Given the description of an element on the screen output the (x, y) to click on. 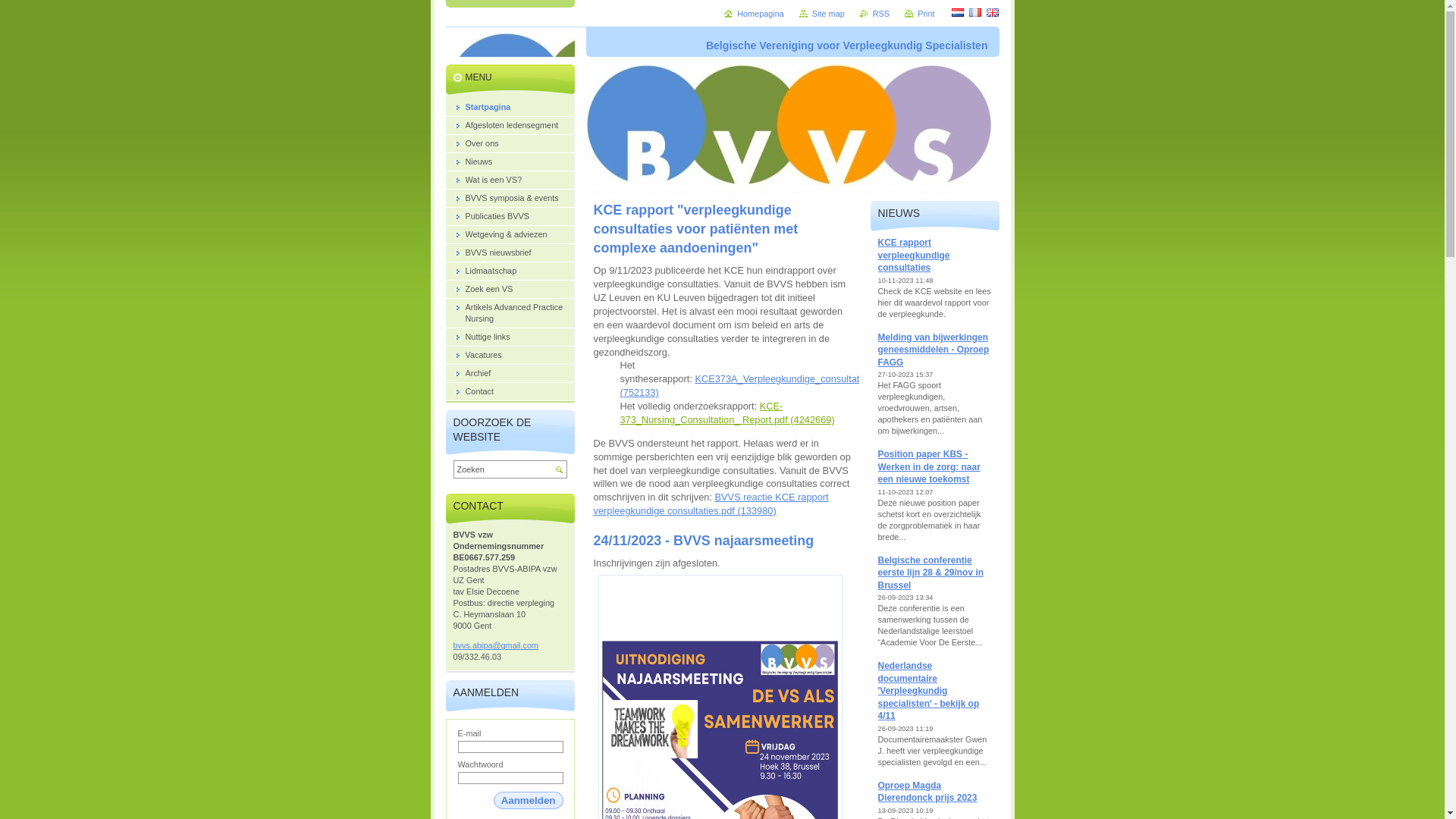
Contact Element type: text (509, 391)
bvvs.abipa@gmail.com Element type: text (510, 645)
Melding van bijwerkingen geneesmiddelen - Oproep FAGG Element type: text (933, 349)
Publicaties BVVS Element type: text (509, 216)
Archief Element type: text (509, 373)
Afgesloten ledensegment Element type: text (509, 125)
BVVS symposia & events Element type: text (509, 198)
RSS Element type: text (874, 13)
Print Element type: text (919, 13)
KCE rapport verpleegkundige consultaties Element type: text (914, 255)
Wetgeving & adviezen Element type: text (509, 234)
Artikels Advanced Practice Nursing Element type: text (509, 313)
Startpagina Element type: text (509, 107)
Belgische conferentie eerste lijn 28 & 29/nov in Brussel Element type: text (931, 572)
Nuttige links Element type: text (509, 337)
Aanmelden Element type: text (528, 800)
Zoek een VS Element type: text (509, 289)
BVVS nieuwsbrief Element type: text (509, 253)
Over ons Element type: text (509, 143)
Nieuws Element type: text (509, 162)
Lidmaatschap Element type: text (509, 271)
English Element type: hover (991, 12)
Site map Element type: text (821, 13)
Nederlands Element type: hover (956, 12)
Vacatures Element type: text (509, 355)
Homepagina Element type: text (754, 13)
Wat is een VS? Element type: text (509, 180)
Oproep Magda Dierendonck prijs 2023 Element type: text (927, 791)
KCE-373_Nursing_Consultation_ Report.pdf (4242669) Element type: text (727, 412)
